Given the description of an element on the screen output the (x, y) to click on. 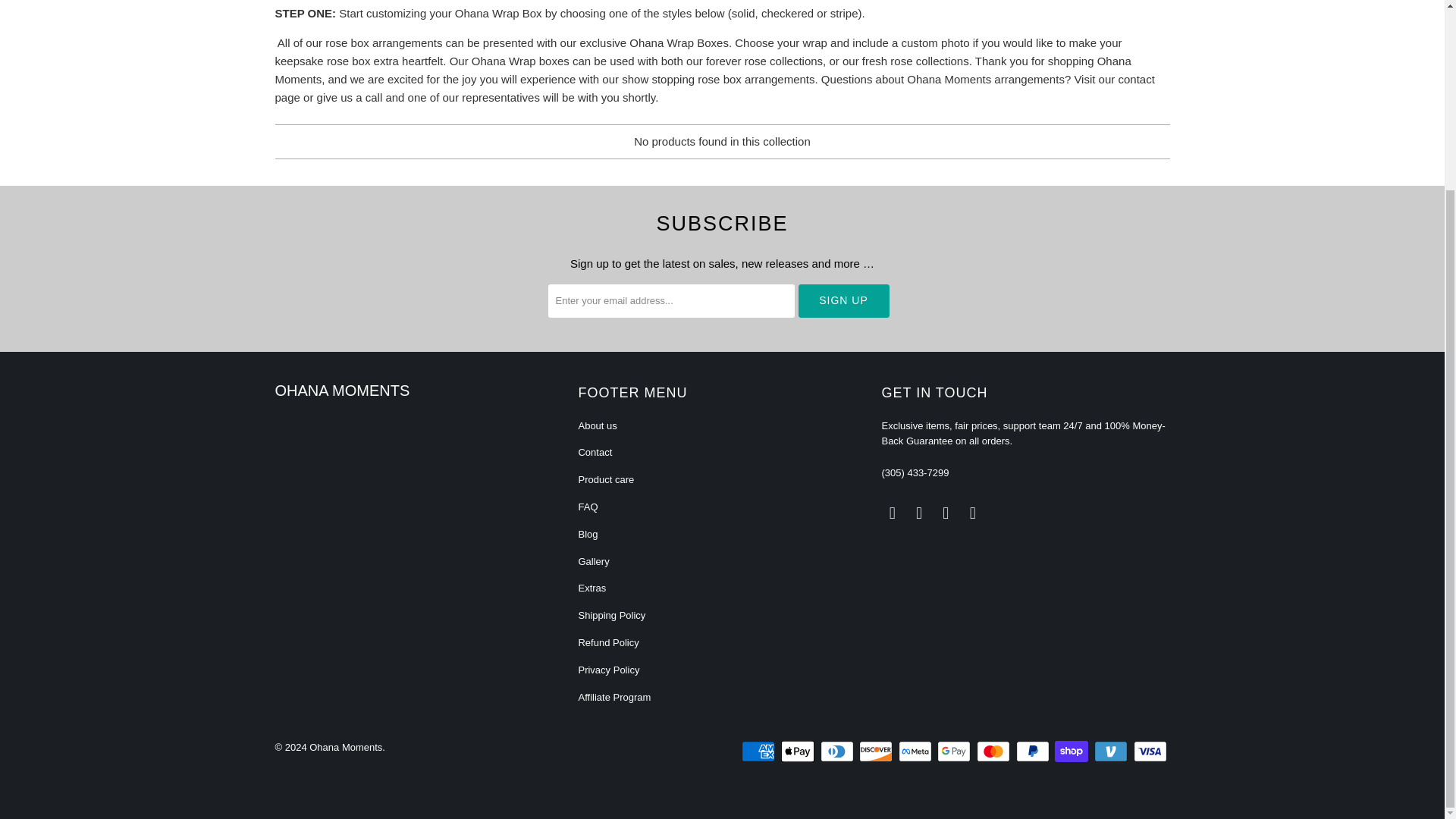
Ohana Moments on Facebook (892, 513)
Ohana Moments on Instagram (946, 513)
PayPal (1034, 751)
Venmo (1112, 751)
Diners Club (839, 751)
Google Pay (955, 751)
Mastercard (994, 751)
Meta Pay (916, 751)
Apple Pay (798, 751)
Sign Up (842, 300)
